Given the description of an element on the screen output the (x, y) to click on. 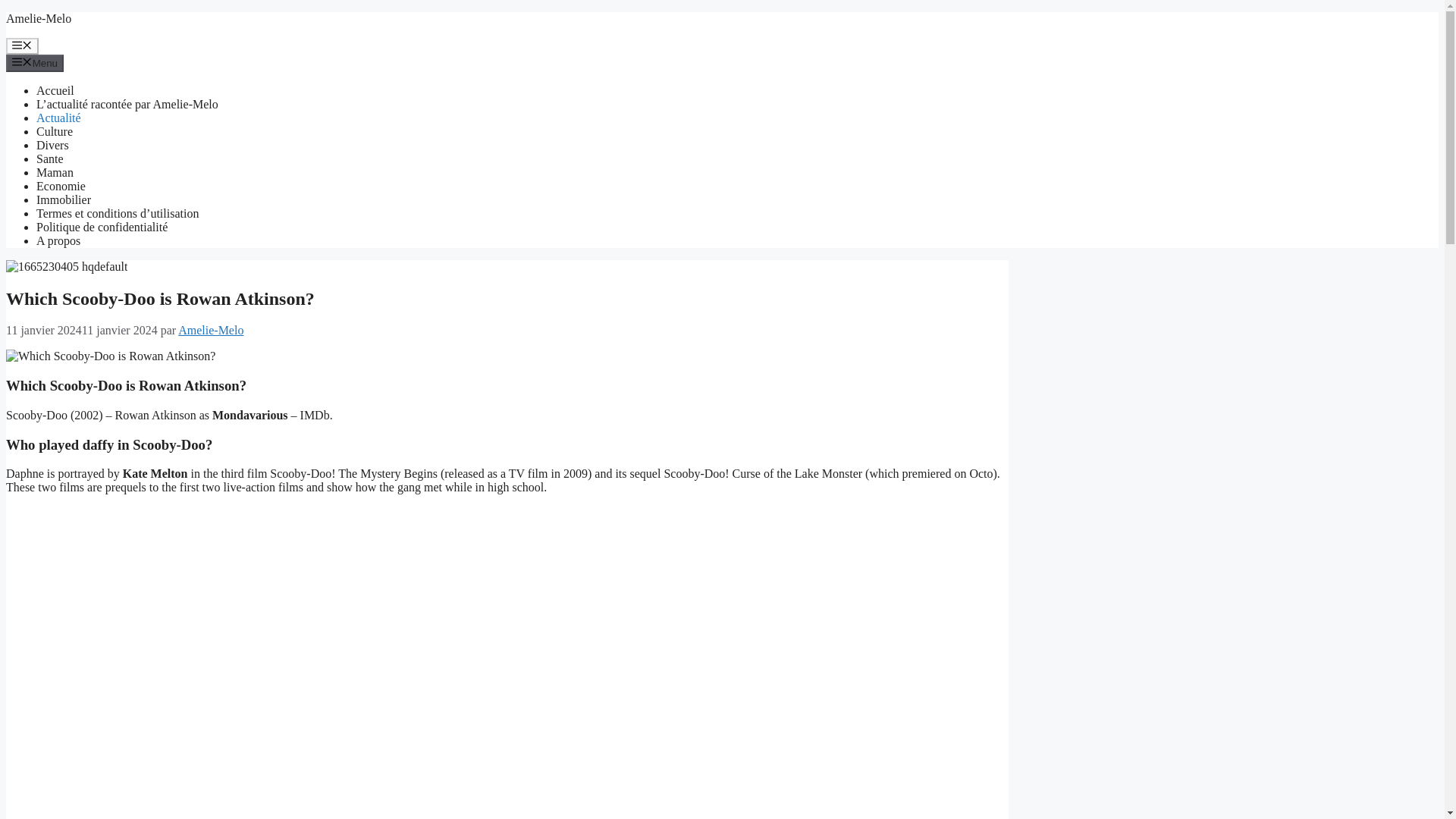
Economie (60, 185)
Amelie-Melo (210, 329)
Amelie-Melo (38, 18)
Afficher tous les articles de Amelie-Melo (210, 329)
Sante (50, 158)
Divers (52, 144)
Accueil (55, 90)
Maman (55, 172)
